Given the description of an element on the screen output the (x, y) to click on. 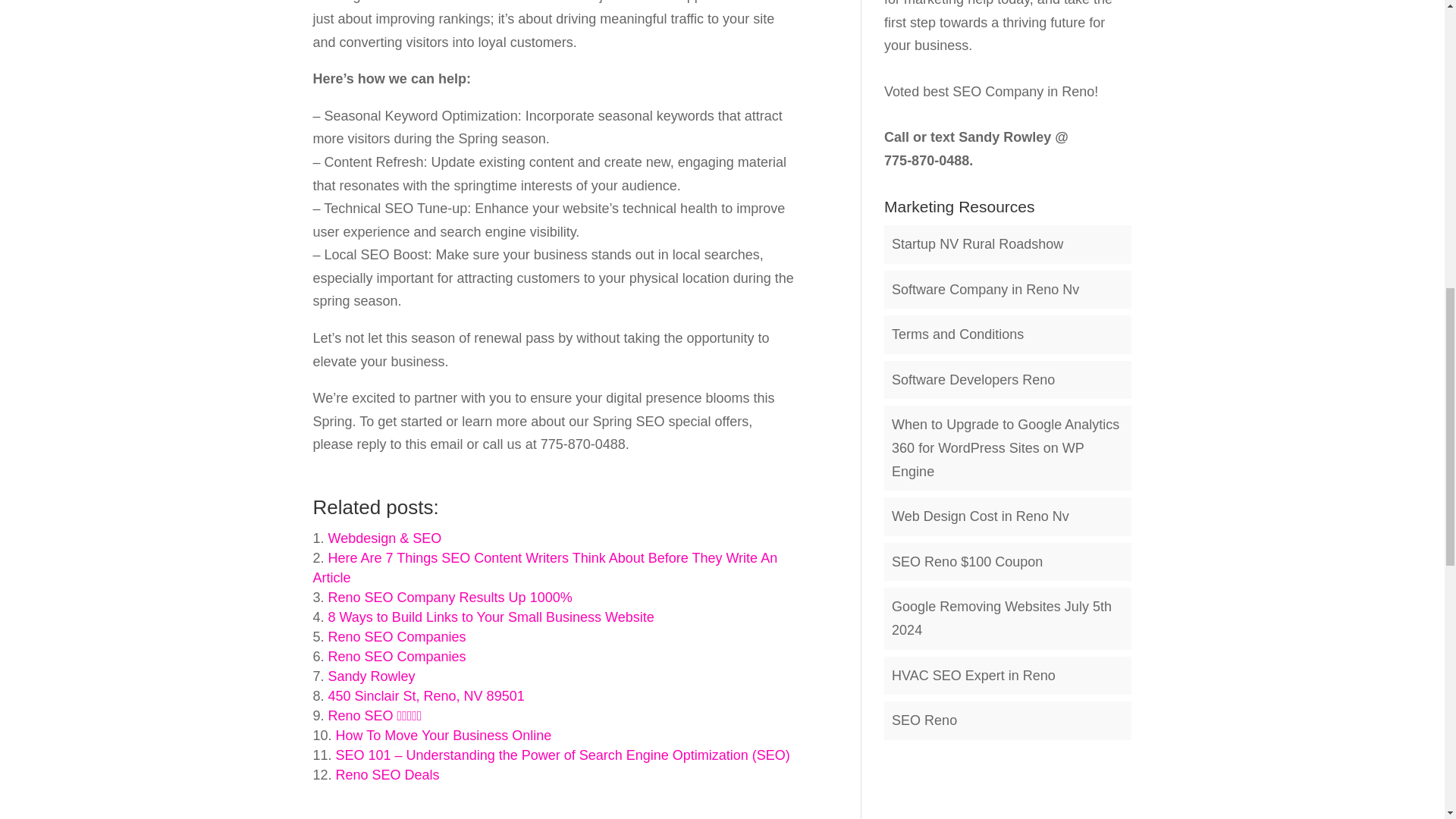
8 Ways to Build Links to Your Small Business Website (491, 616)
Reno SEO Companies (397, 656)
Sandy Rowley (371, 676)
450 Sinclair St, Reno, NV 89501 (426, 695)
Reno SEO Deals (387, 774)
How To Move Your Business Online (443, 735)
Reno SEO Companies (397, 636)
